Given the description of an element on the screen output the (x, y) to click on. 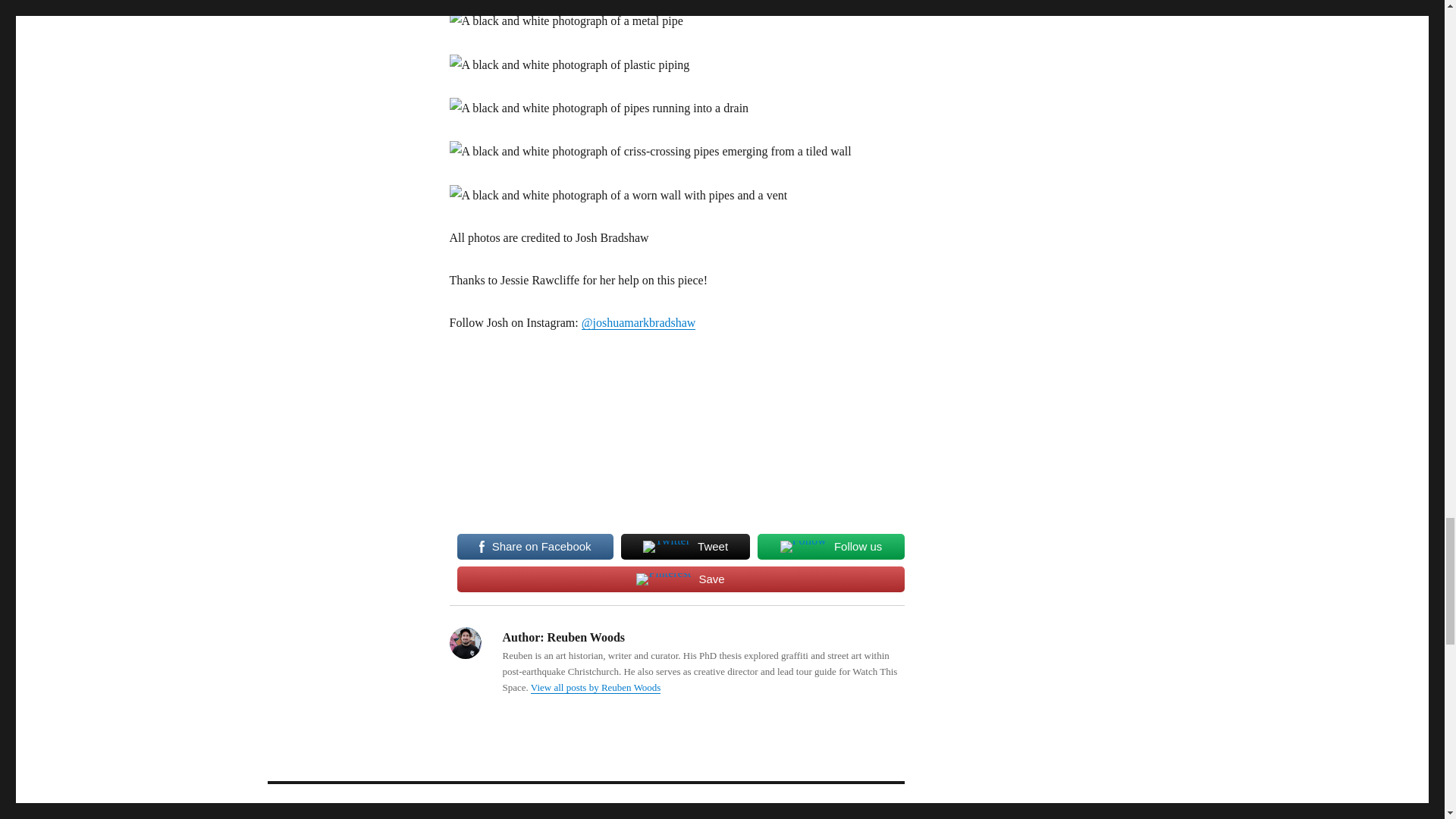
Share on Facebook (534, 546)
Follow us (830, 546)
Tweet (686, 546)
View all posts by Reuben Woods (596, 686)
Save (680, 579)
